Given the description of an element on the screen output the (x, y) to click on. 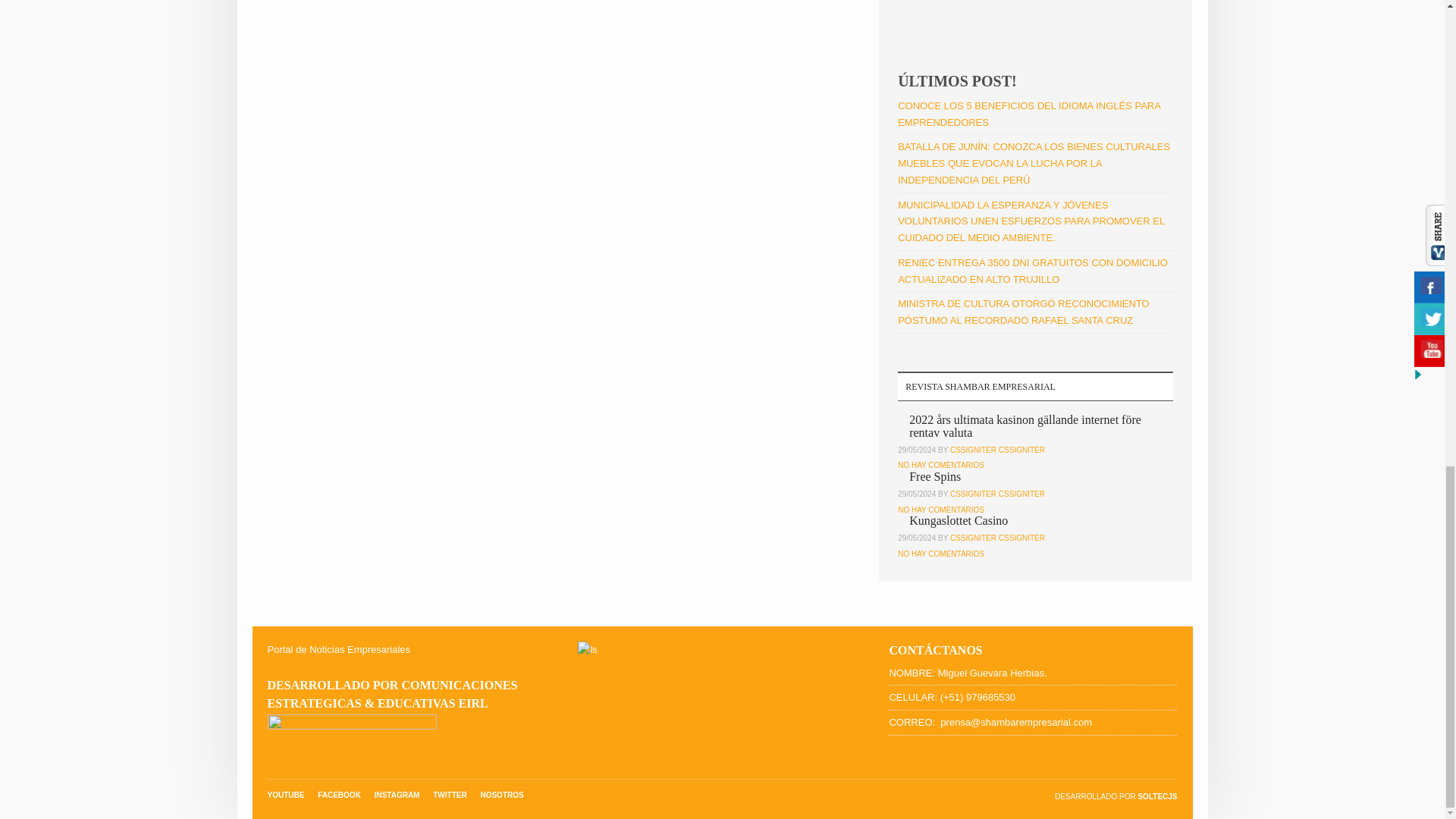
Entradas de cssigniter cssigniter (997, 493)
Sobre nosotros (501, 795)
Entradas de cssigniter cssigniter (997, 449)
Entradas de cssigniter cssigniter (997, 537)
